Given the description of an element on the screen output the (x, y) to click on. 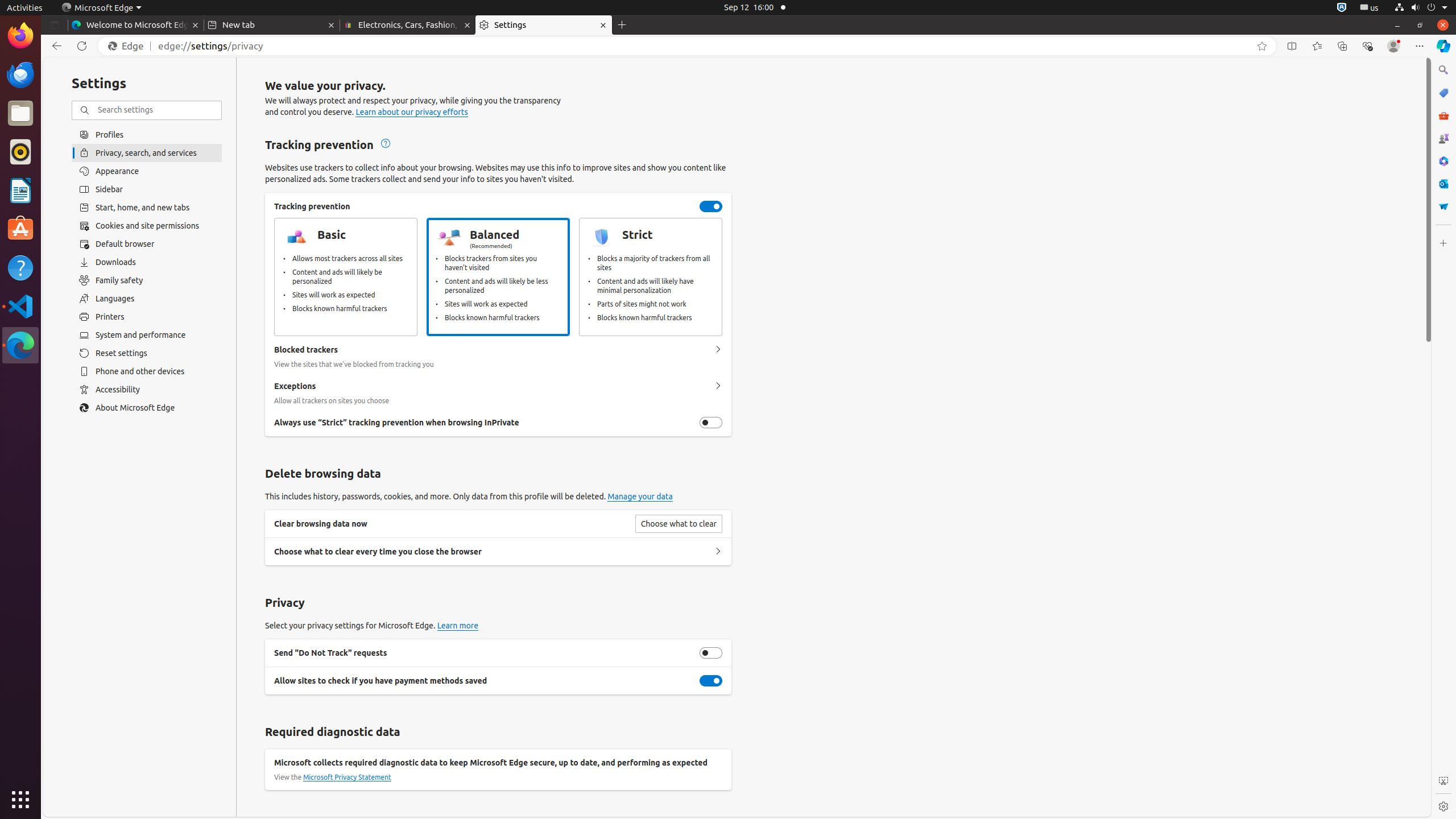
Microsoft Edge Element type: push-button (20, 344)
Settings Element type: push-button (1443, 806)
Electronics, Cars, Fashion, Collectibles & More | eBay Element type: page-tab (407, 25)
Exceptions Element type: push-button (717, 385)
Printers Element type: tree-item (146, 316)
